Given the description of an element on the screen output the (x, y) to click on. 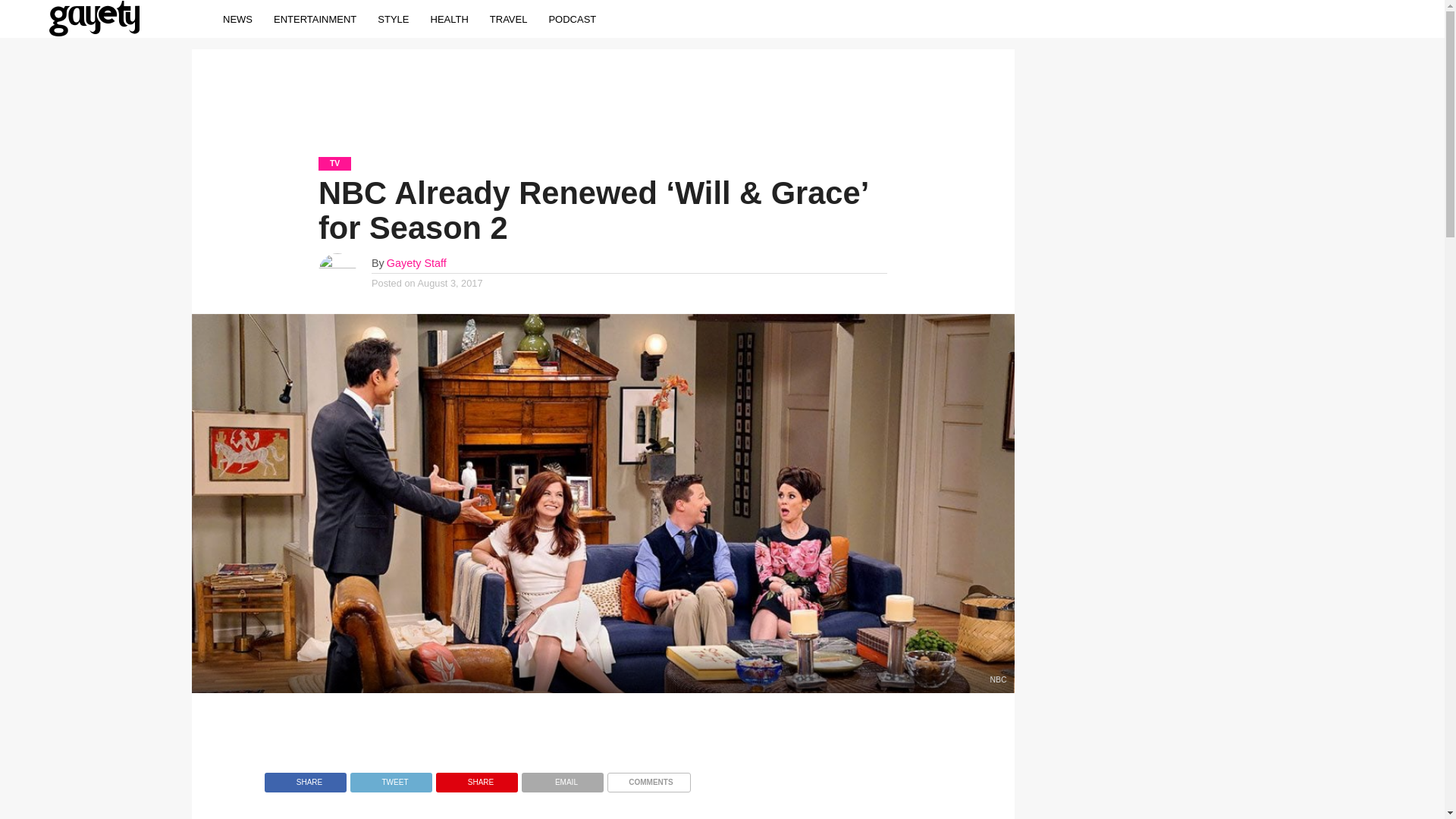
NEWS (237, 18)
TWEET (390, 778)
SHARE (476, 778)
EMAIL (562, 778)
PODCAST (572, 18)
STYLE (392, 18)
TRAVEL (508, 18)
ENTERTAINMENT (314, 18)
SHARE (305, 778)
Gayety Staff (416, 263)
